Given the description of an element on the screen output the (x, y) to click on. 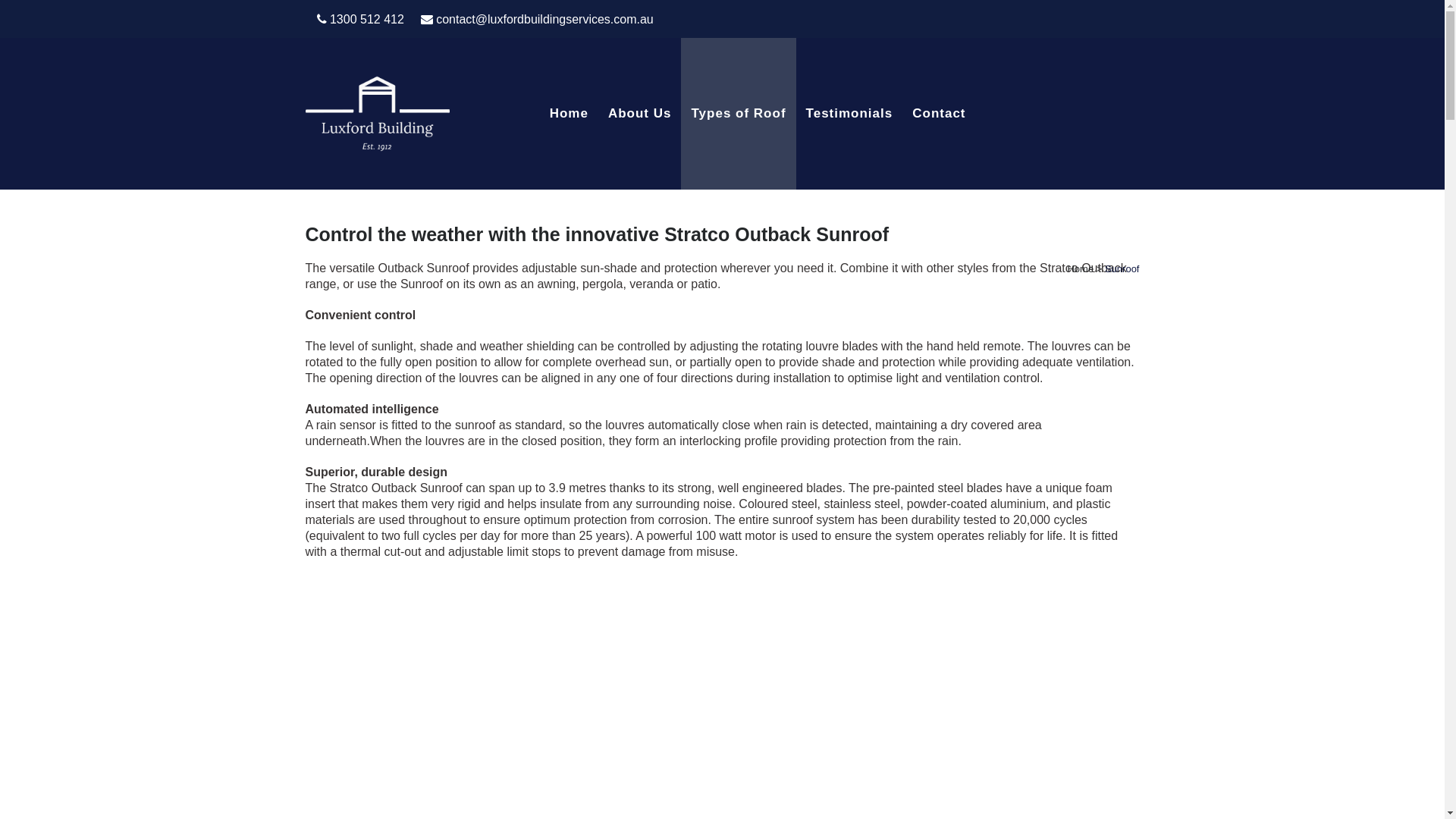
Types of Roof Element type: text (737, 113)
1300 512 412 Element type: text (360, 19)
contact@luxfordbuildingservices.com.au Element type: text (536, 19)
Home Element type: text (568, 113)
About Us Element type: text (639, 113)
Contact Element type: text (938, 113)
Home Element type: text (1079, 268)
Testimonials Element type: text (849, 113)
